Given the description of an element on the screen output the (x, y) to click on. 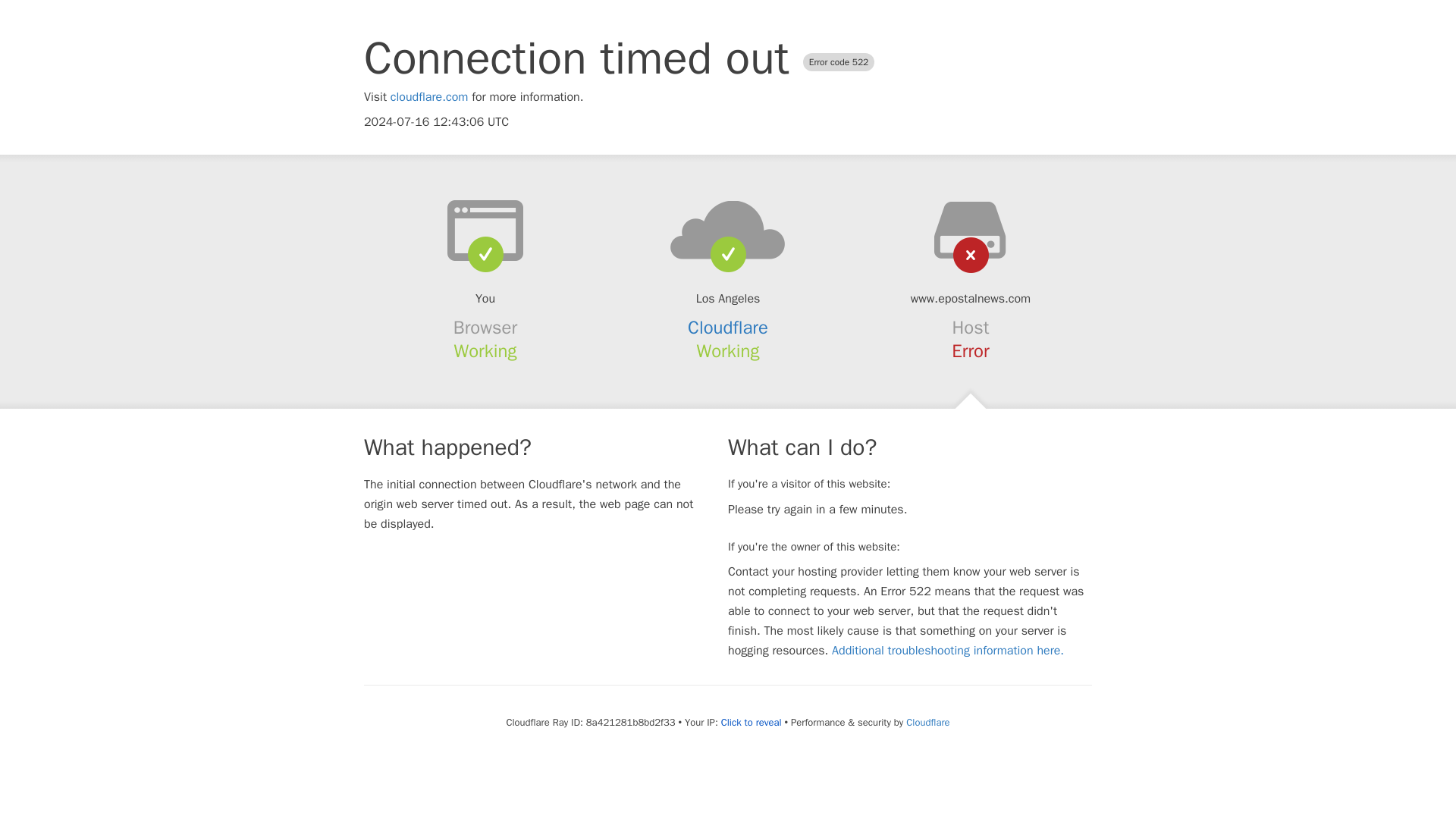
Click to reveal (750, 722)
Cloudflare (927, 721)
cloudflare.com (429, 96)
Cloudflare (727, 327)
Additional troubleshooting information here. (947, 650)
